Given the description of an element on the screen output the (x, y) to click on. 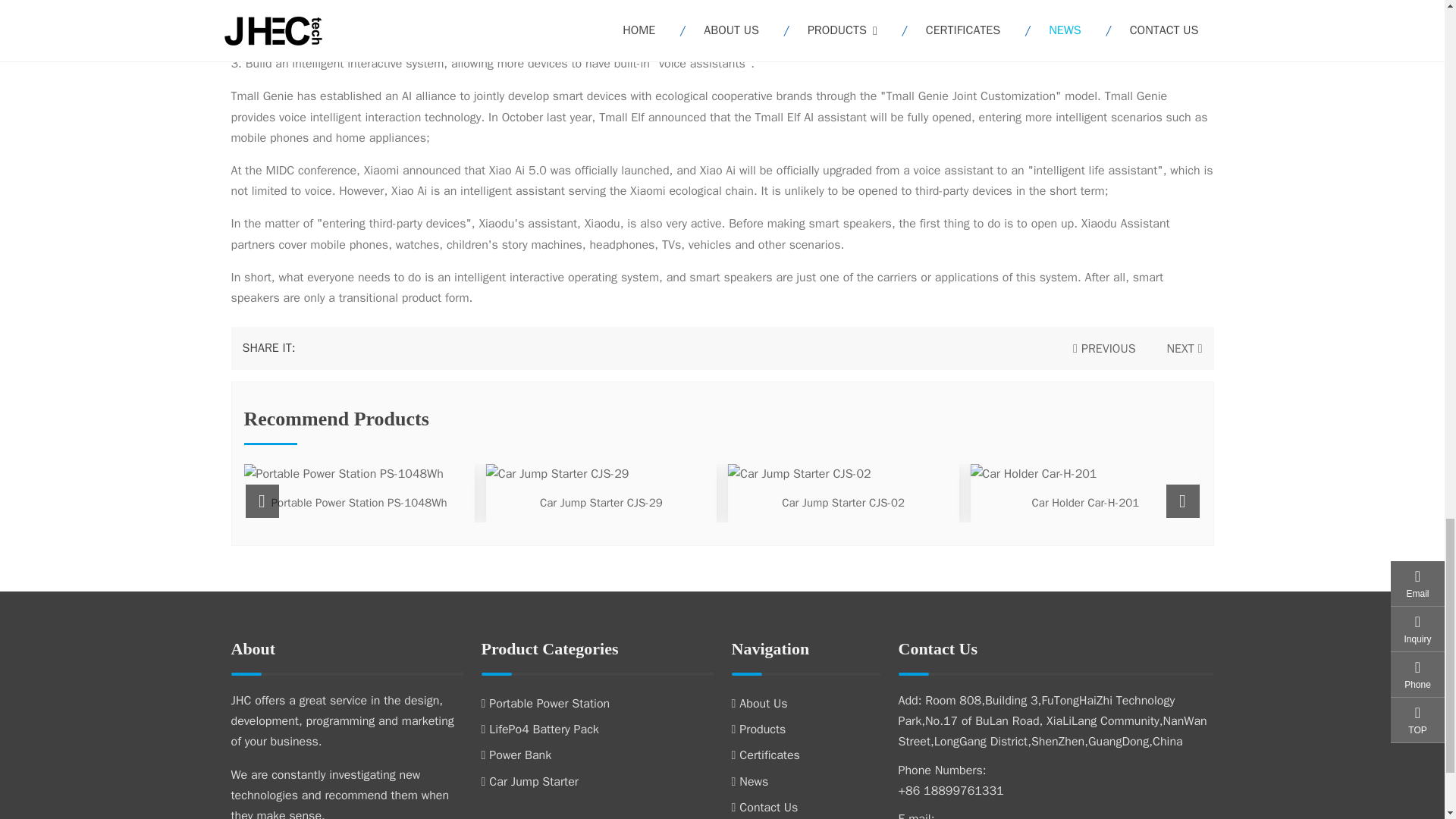
Power Bank (515, 754)
NEXT (1180, 348)
Car Jump Starter CJS-29 (601, 502)
Portable Power Station PS-1048Wh (358, 502)
LifePo4 Battery Pack (539, 729)
Car Holder Car-H-201 (1086, 502)
PREVIOUS (1104, 348)
Car Jump Starter CJS-02 (842, 502)
Portable Power Station (545, 703)
